Given the description of an element on the screen output the (x, y) to click on. 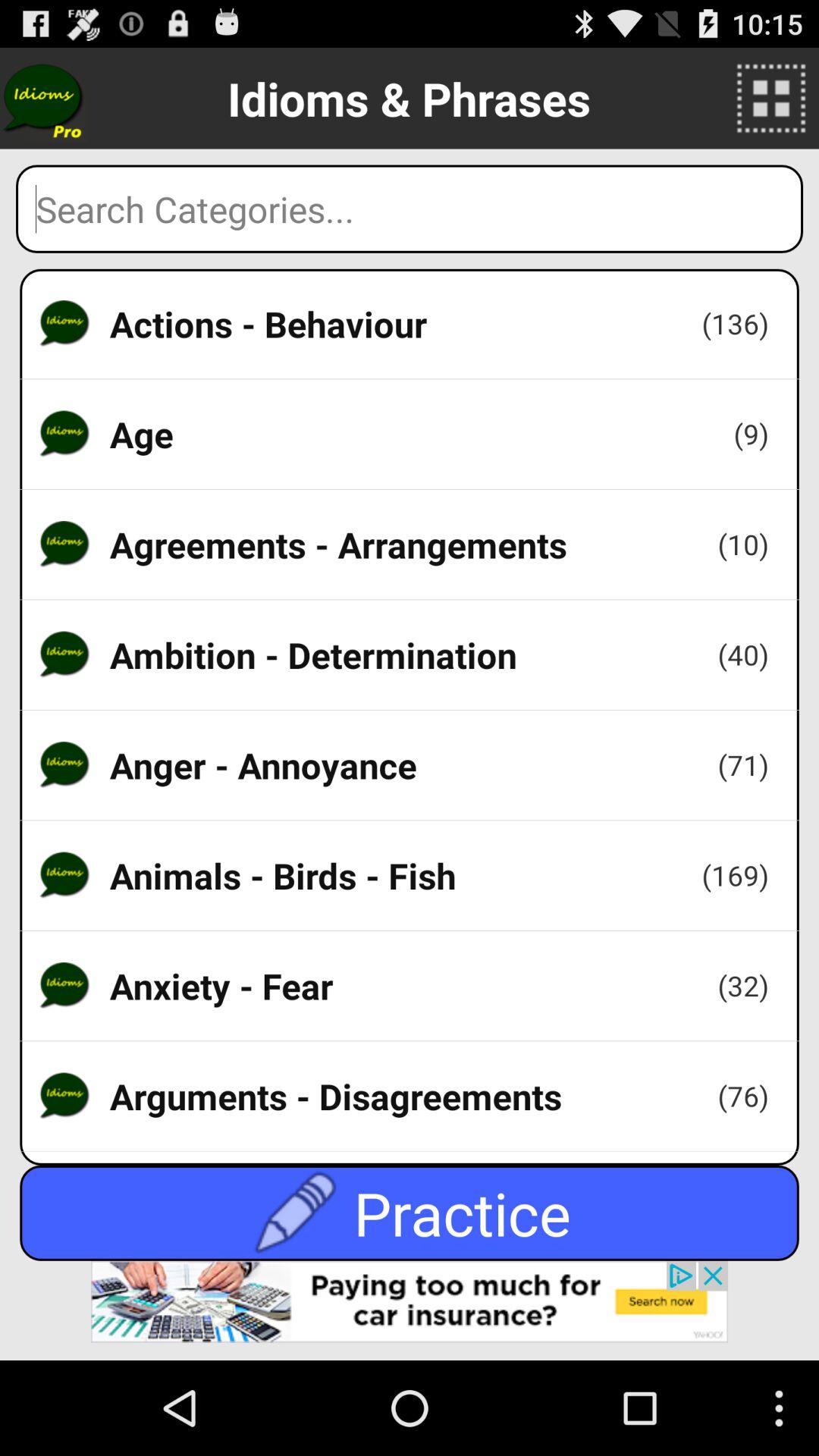
search page (409, 208)
